Given the description of an element on the screen output the (x, y) to click on. 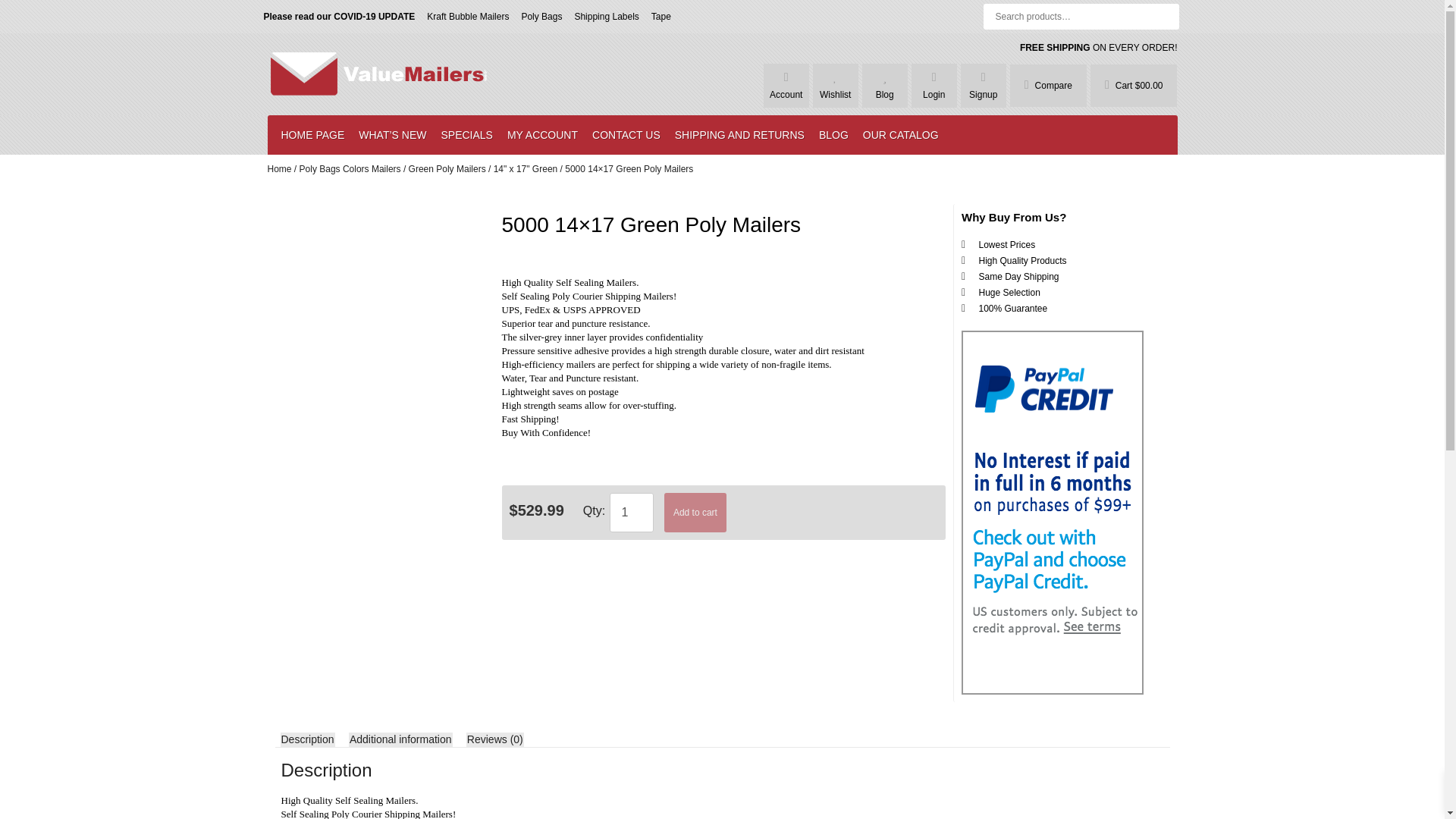
Account (786, 94)
Green Poly Mailers (447, 168)
1 (631, 512)
Login (933, 94)
Please read our COVID-19 UPDATE (338, 16)
BLOG (833, 134)
Blog (884, 94)
CONTACT US (626, 134)
OUR CATALOG (900, 134)
Signup (983, 94)
Search (26, 12)
Compare (1048, 85)
Wishlist (834, 94)
MY ACCOUNT (541, 134)
Poly Bags Colors Mailers (350, 168)
